Given the description of an element on the screen output the (x, y) to click on. 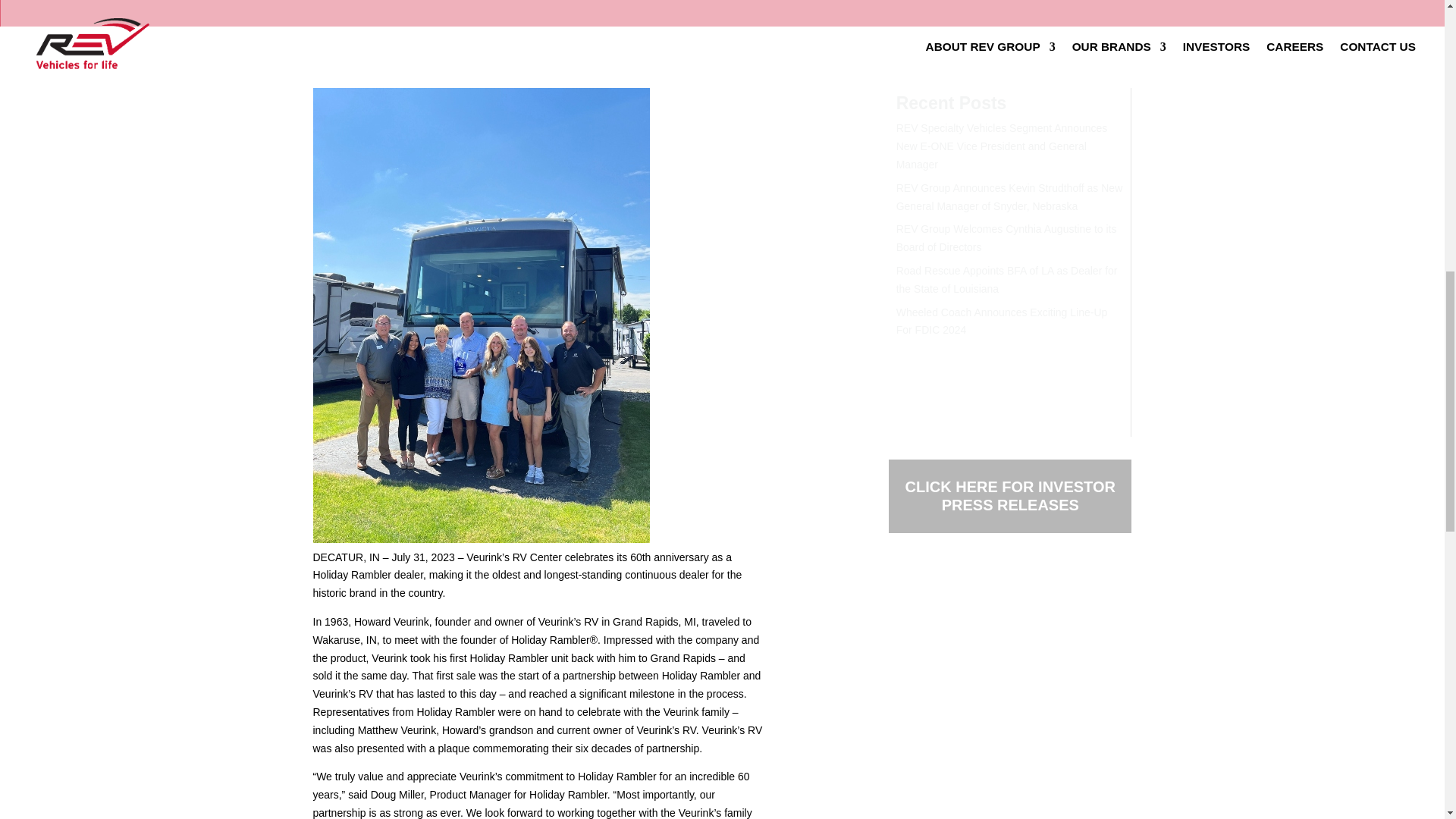
Follow on Facebook (900, 586)
Follow on X (930, 586)
Follow on LinkedIn (961, 586)
